Given the description of an element on the screen output the (x, y) to click on. 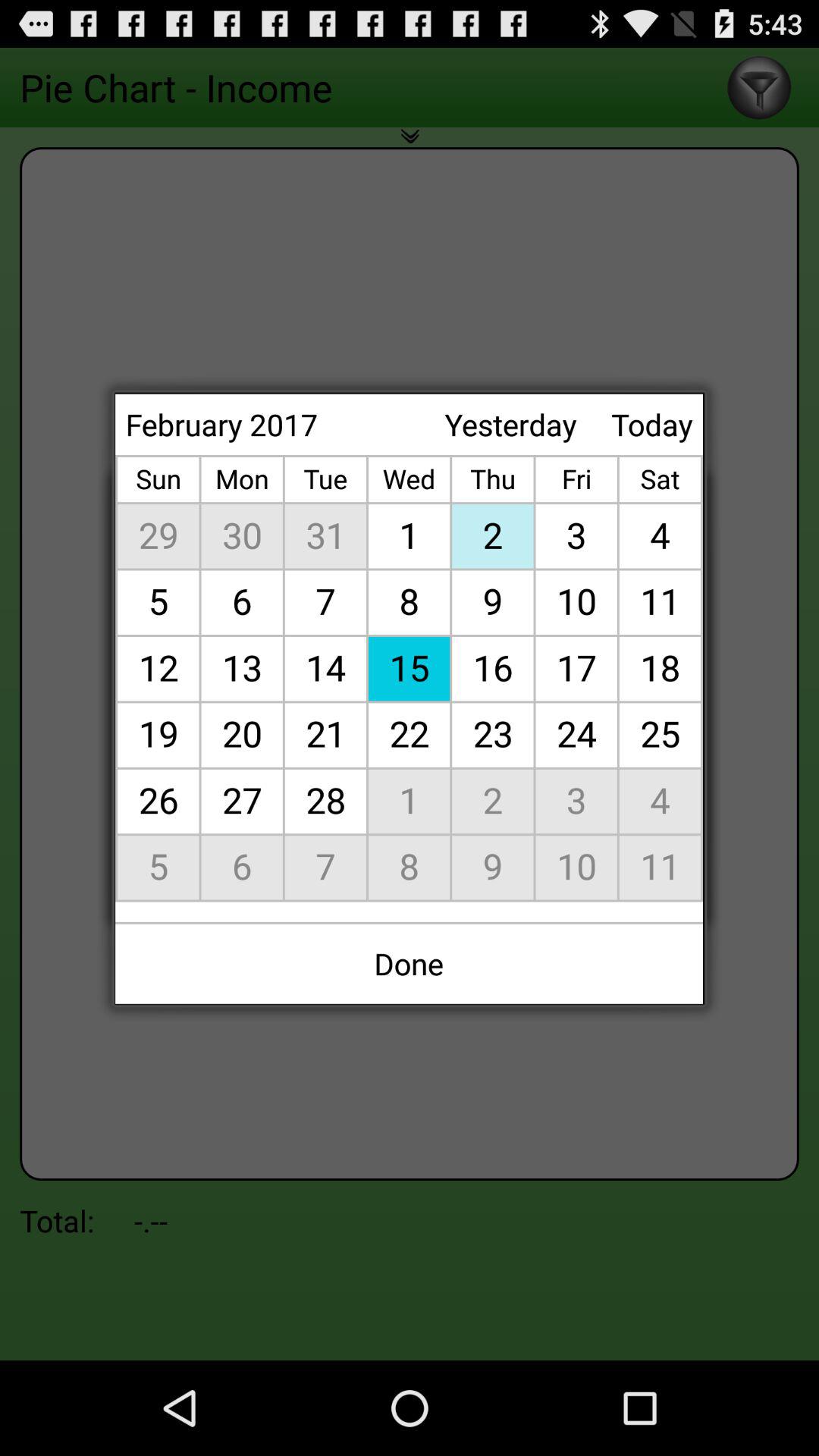
tap yesterday item (510, 424)
